Given the description of an element on the screen output the (x, y) to click on. 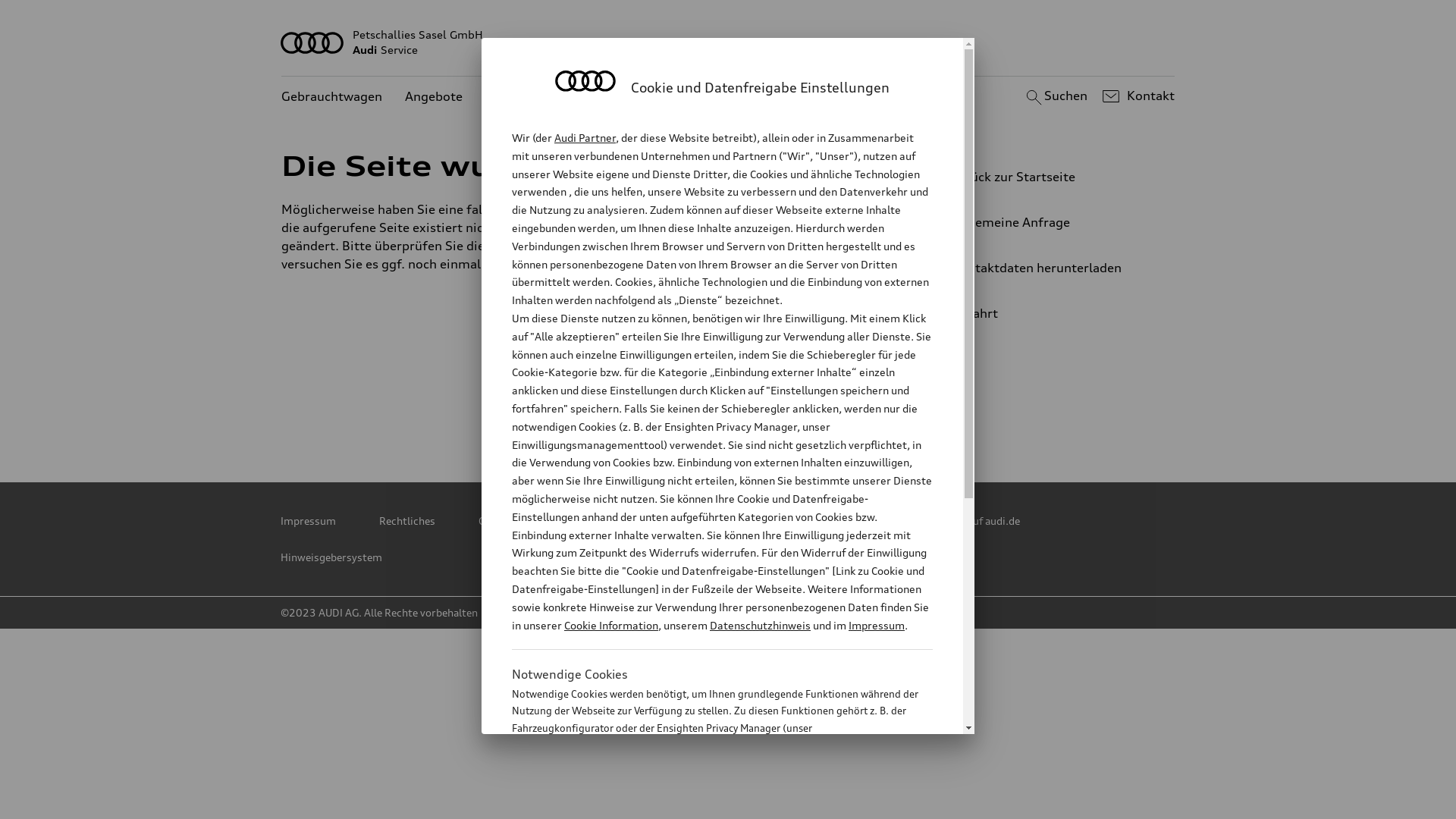
Facebook Element type: hover (730, 410)
Gebrauchtwagen Element type: text (331, 96)
Instagram Element type: hover (863, 410)
Suchen Element type: text (1054, 96)
Allgemeine Anfrage Element type: text (1043, 222)
Konfigurieren auf audi.de Element type: text (958, 520)
Kontaktdaten herunterladen Element type: text (1043, 267)
Kontakt Element type: text (1135, 96)
Rechtliches Element type: text (407, 520)
Cookie Information Element type: text (611, 624)
Impressum Element type: text (876, 624)
Audi Partner Element type: text (584, 137)
Kundenservice Element type: text (528, 96)
Pinterest Element type: hover (663, 410)
Datenschutzhinweis Element type: text (759, 624)
Audi.de Element type: text (837, 520)
Hinweisgebersystem Element type: text (331, 557)
Cookie Information Element type: text (705, 802)
Cookie Policy Element type: text (509, 520)
Angebote Element type: text (433, 96)
Anfahrt Element type: text (1049, 313)
YouTube Element type: hover (796, 410)
Twitter Element type: hover (596, 410)
Impressum Element type: text (307, 520)
Cookie und Datenfreigabe Einstellungen Element type: text (679, 520)
Petschallies Sasel GmbH
AudiService Element type: text (727, 42)
